Given the description of an element on the screen output the (x, y) to click on. 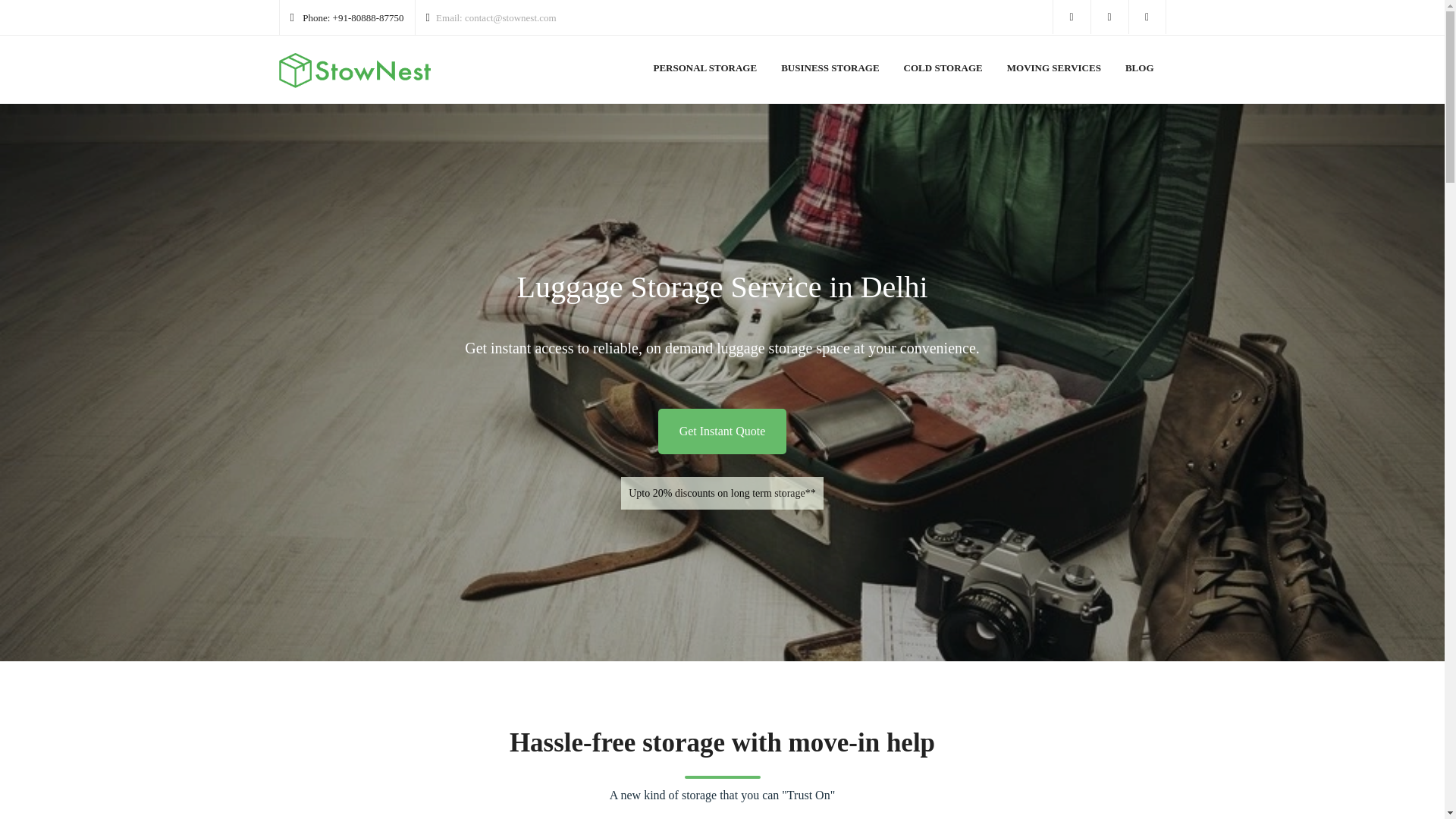
BUSINESS STORAGE (829, 72)
BLOG (1139, 72)
MOVING SERVICES (1053, 72)
Get Instant Quote (722, 430)
PERSONAL STORAGE (704, 72)
COLD STORAGE (942, 72)
